Given the description of an element on the screen output the (x, y) to click on. 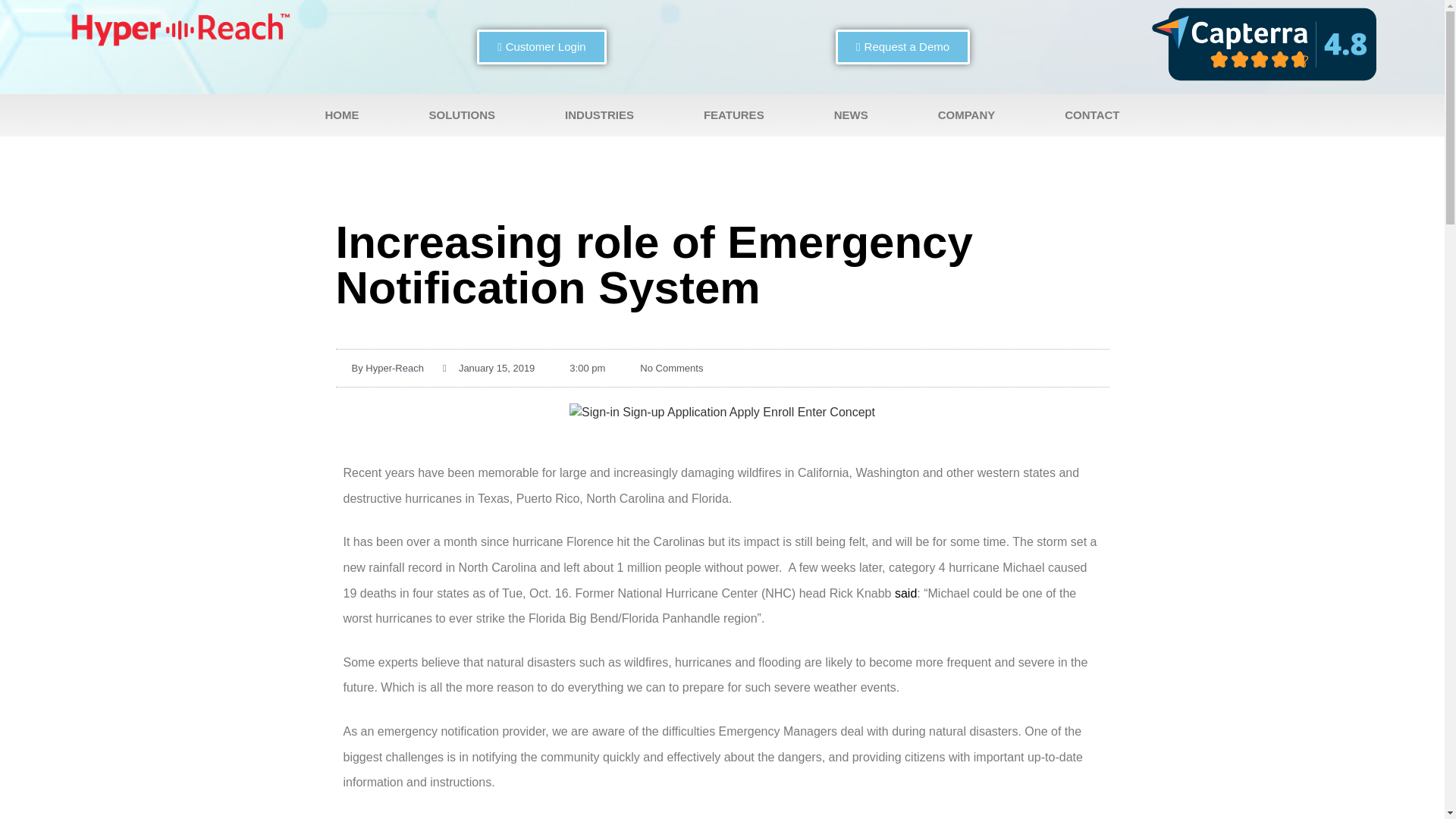
SOLUTIONS (462, 115)
INDUSTRIES (598, 115)
HOME (341, 115)
NEWS (850, 115)
COMPANY (966, 115)
Customer Login (541, 46)
Sign-in Sign-up Application Apply Enroll Enter Concept (722, 412)
Request a Demo (902, 46)
CONTACT (1091, 115)
FEATURES (733, 115)
